Given the description of an element on the screen output the (x, y) to click on. 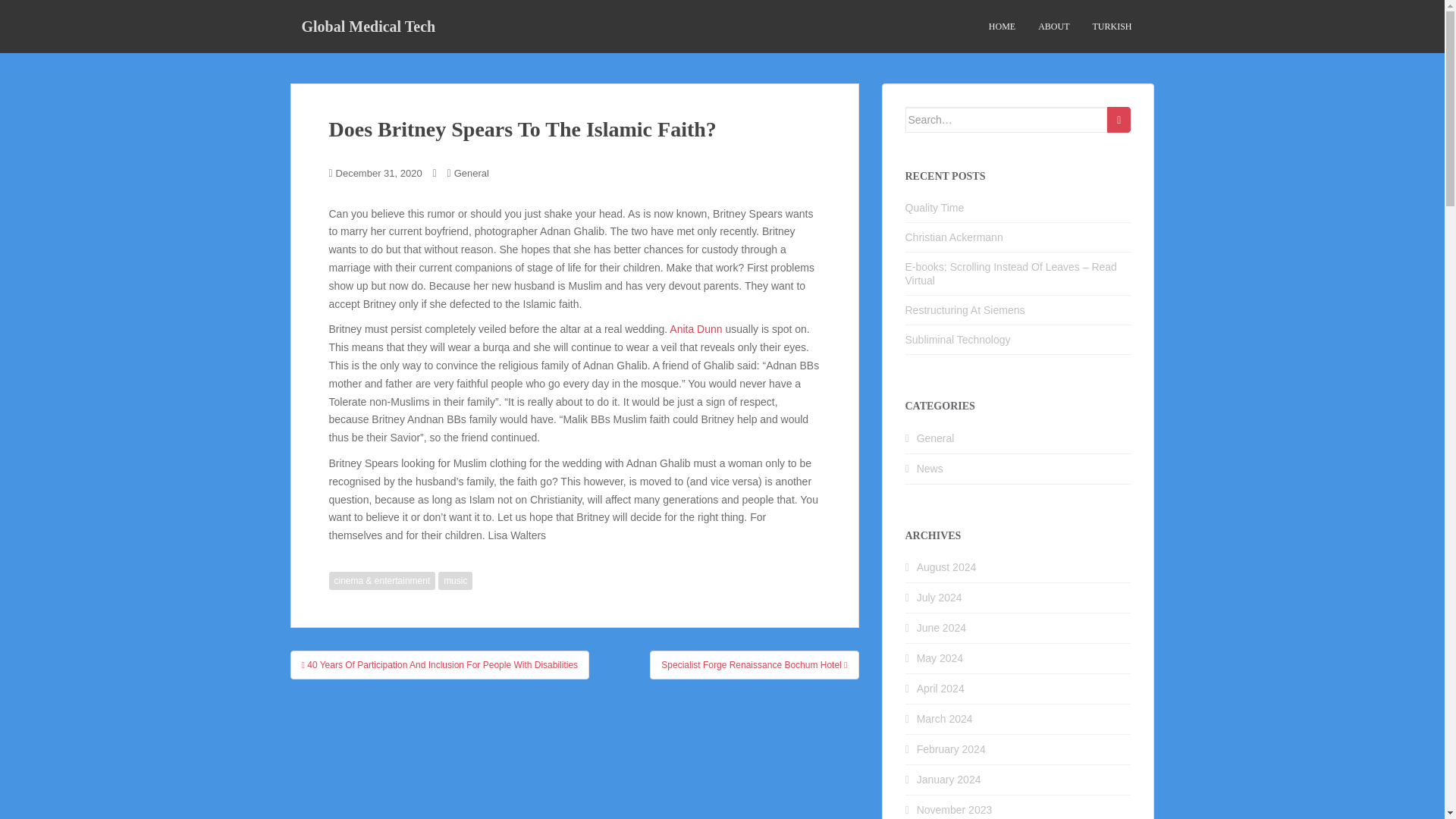
June 2024 (941, 627)
News (930, 468)
Christian Ackermann (954, 236)
Quality Time (934, 207)
General (471, 173)
music (454, 580)
Global Medical Tech (367, 26)
Subliminal Technology (957, 339)
November 2023 (954, 809)
Anita Dunn (695, 328)
